Given the description of an element on the screen output the (x, y) to click on. 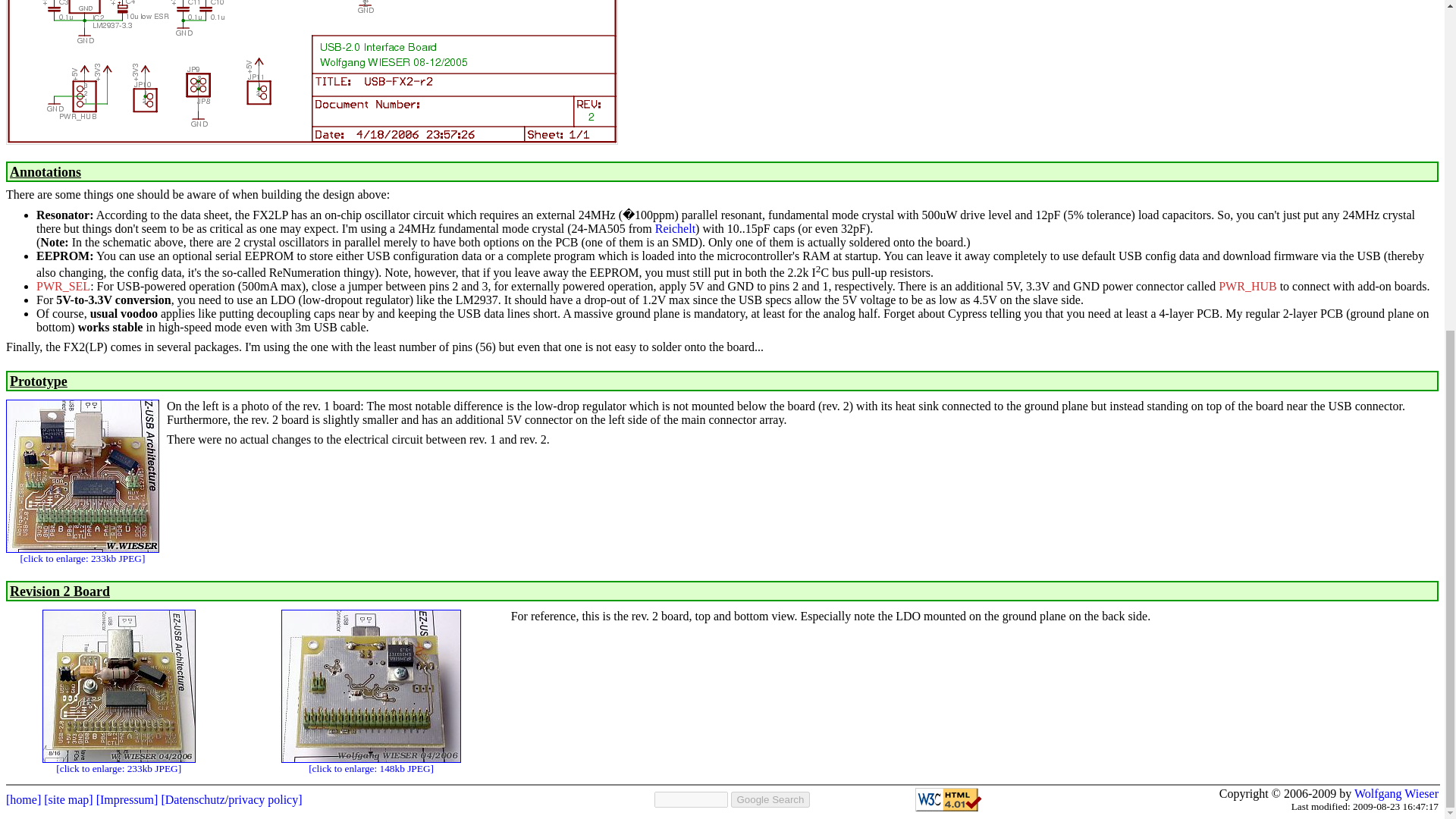
Google Search (770, 799)
Google Search (770, 799)
Reichelt (675, 228)
Wolfgang Wieser (1396, 793)
